Given the description of an element on the screen output the (x, y) to click on. 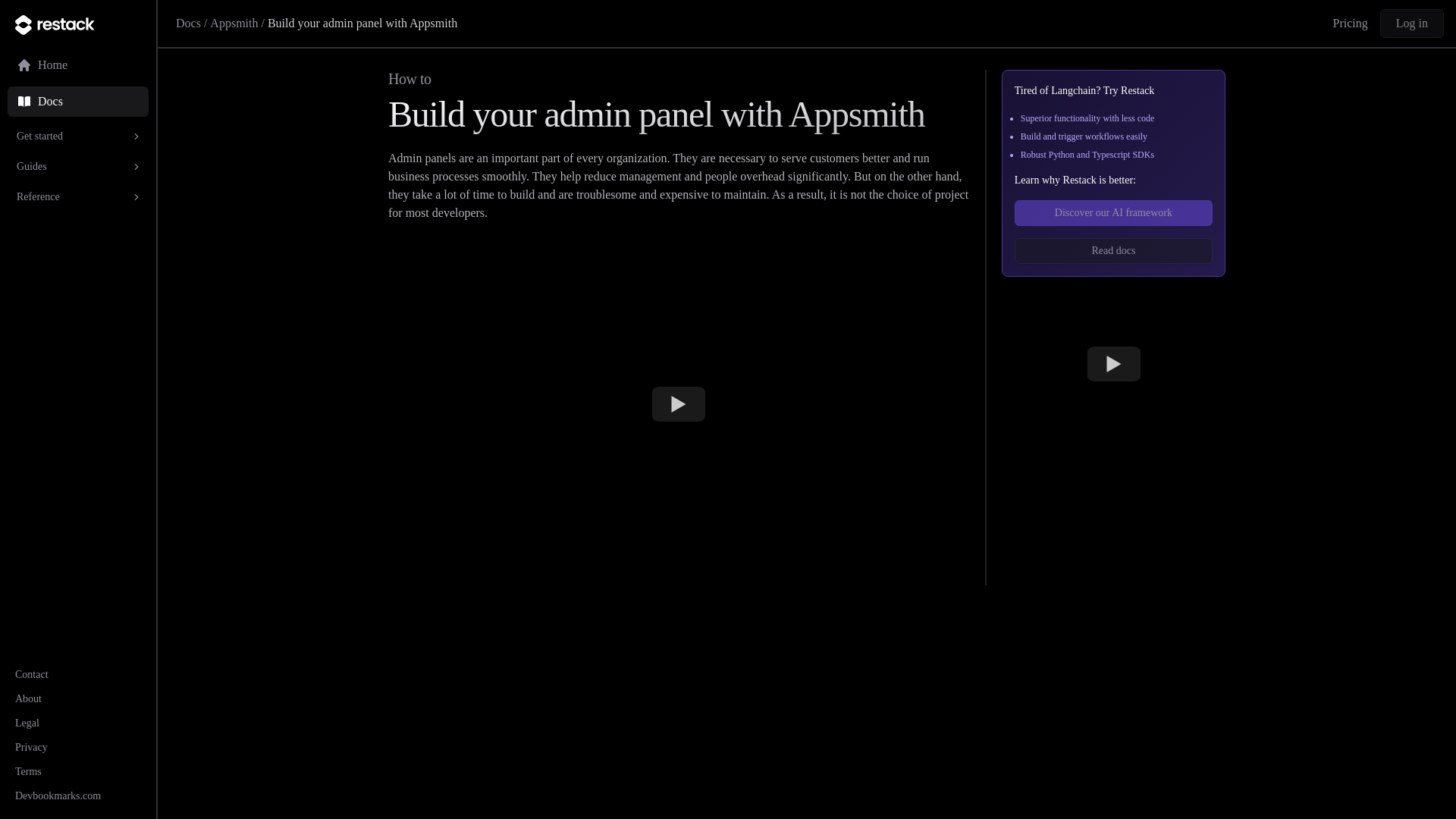
Restack (77, 24)
Terms (28, 771)
About (28, 698)
Devbookmarks.com (57, 795)
Discover our AI framework (1113, 212)
Docs (77, 101)
Docs (188, 22)
Legal (26, 722)
Privacy (31, 747)
Home (77, 64)
Log in (1412, 23)
Read docs (1113, 250)
Contact (31, 674)
Appsmith (233, 22)
Read docs (1113, 250)
